Given the description of an element on the screen output the (x, y) to click on. 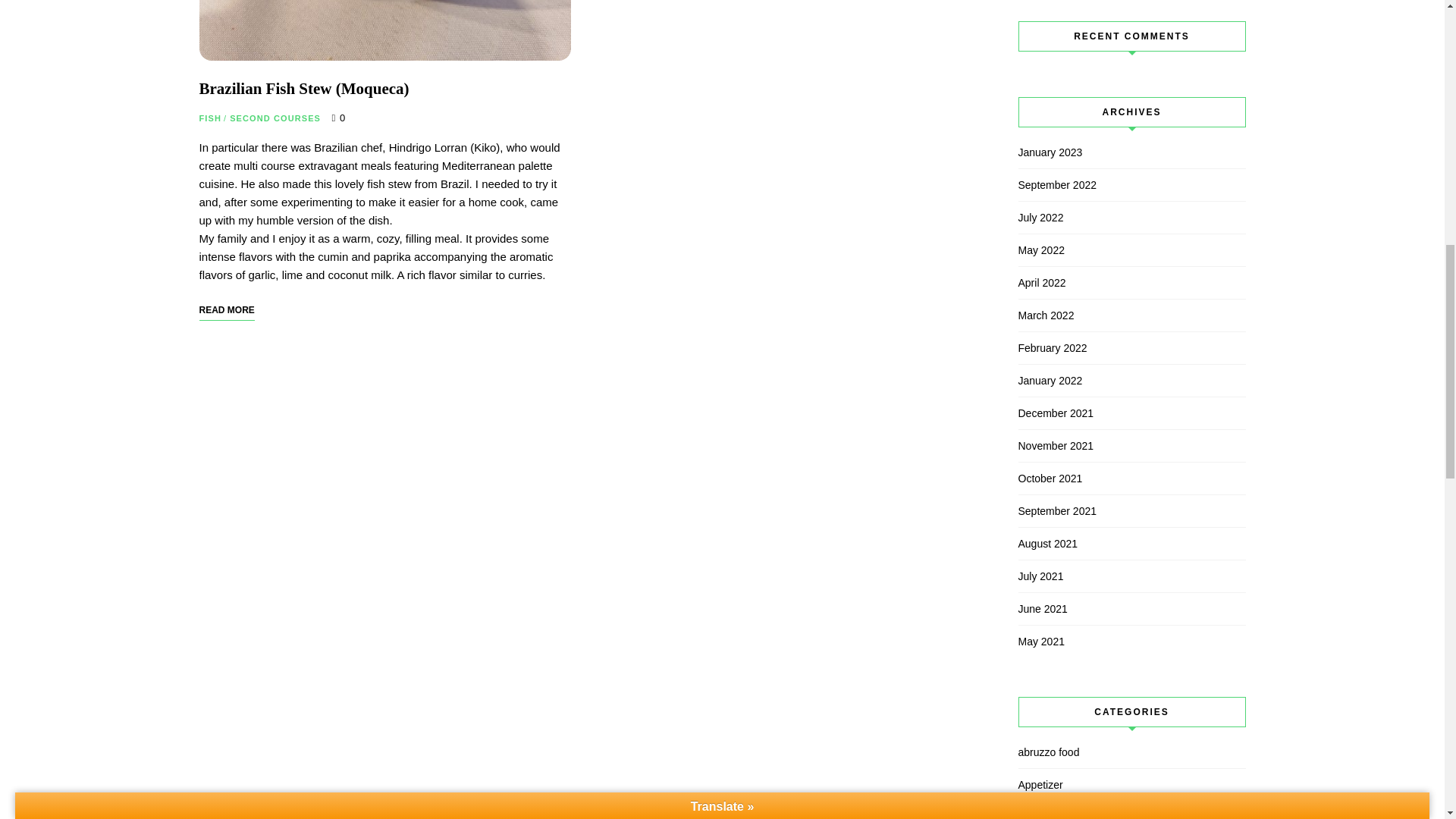
May 2022 (1108, 250)
July 2022 (1108, 217)
SECOND COURSES (275, 119)
FISH (209, 119)
0 (338, 117)
READ MORE (225, 310)
January 2023 (1108, 152)
January 2022 (1108, 380)
April 2022 (1108, 282)
December 2021 (1108, 413)
